Given the description of an element on the screen output the (x, y) to click on. 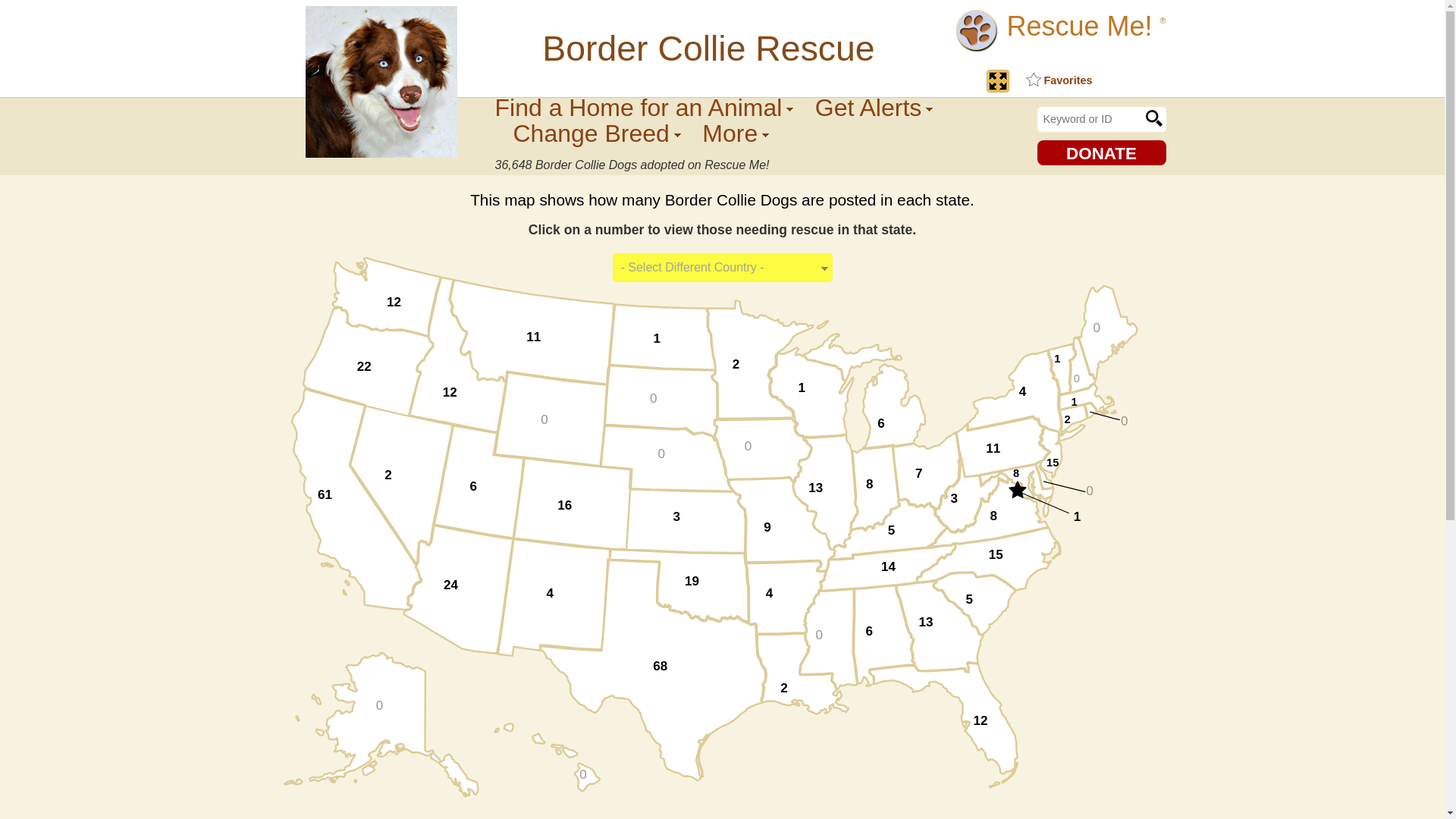
submit (1152, 118)
Favorites (1057, 80)
